Given the description of an element on the screen output the (x, y) to click on. 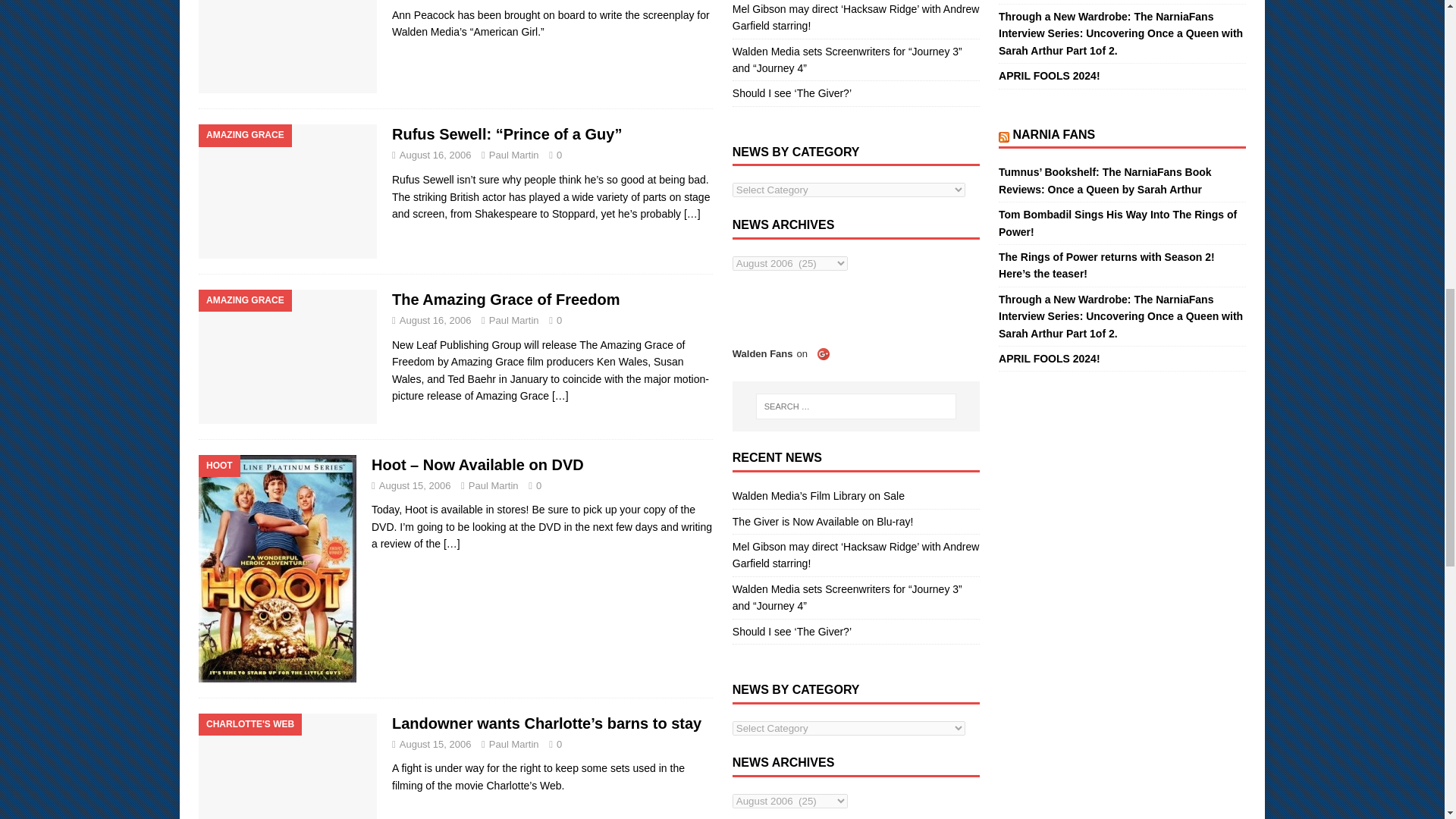
The Amazing Grace of Freedom (560, 395)
The Amazing Grace of Freedom (505, 299)
